Given the description of an element on the screen output the (x, y) to click on. 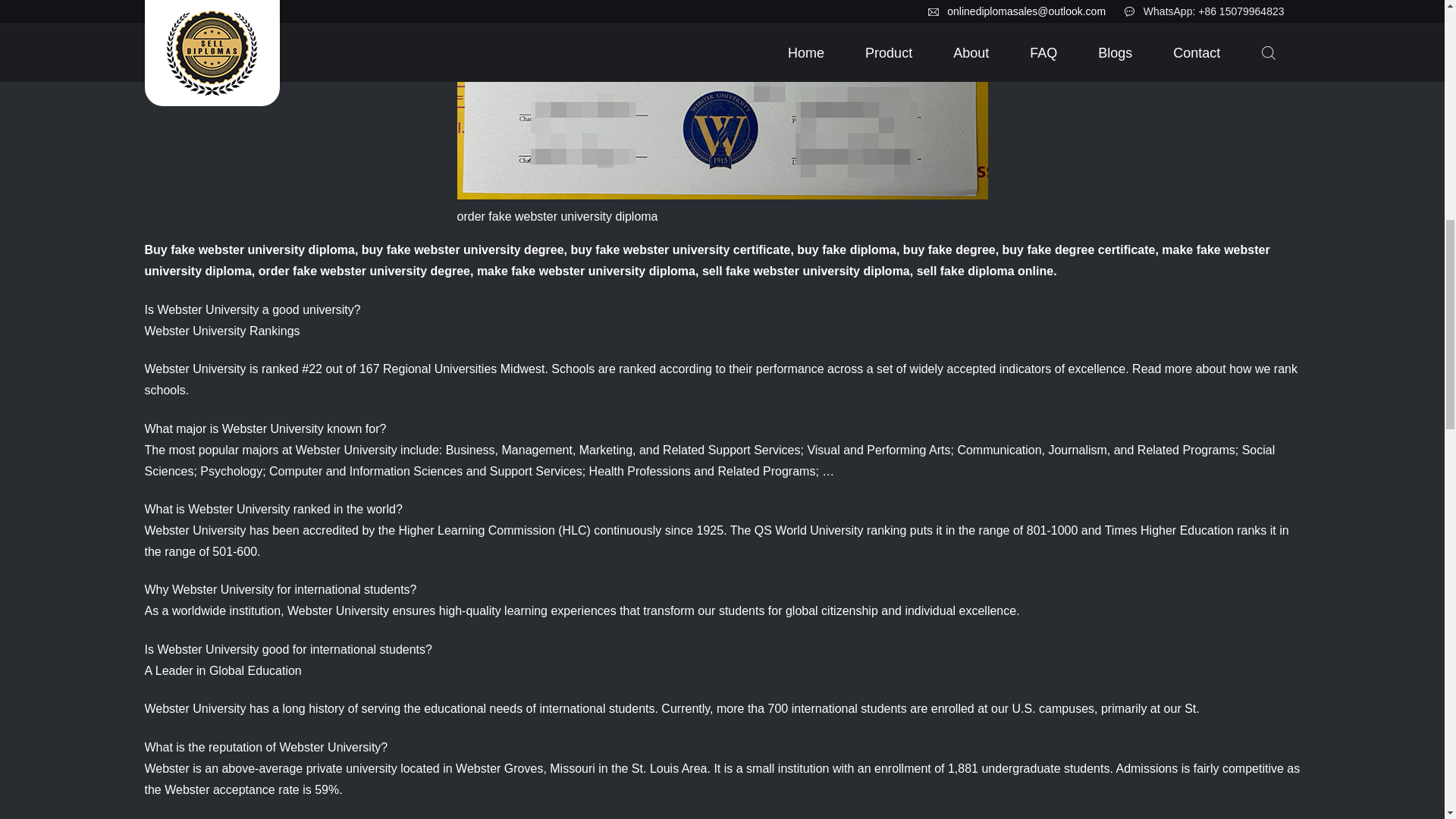
buy fake diploma, (847, 249)
Webster University (329, 747)
